Given the description of an element on the screen output the (x, y) to click on. 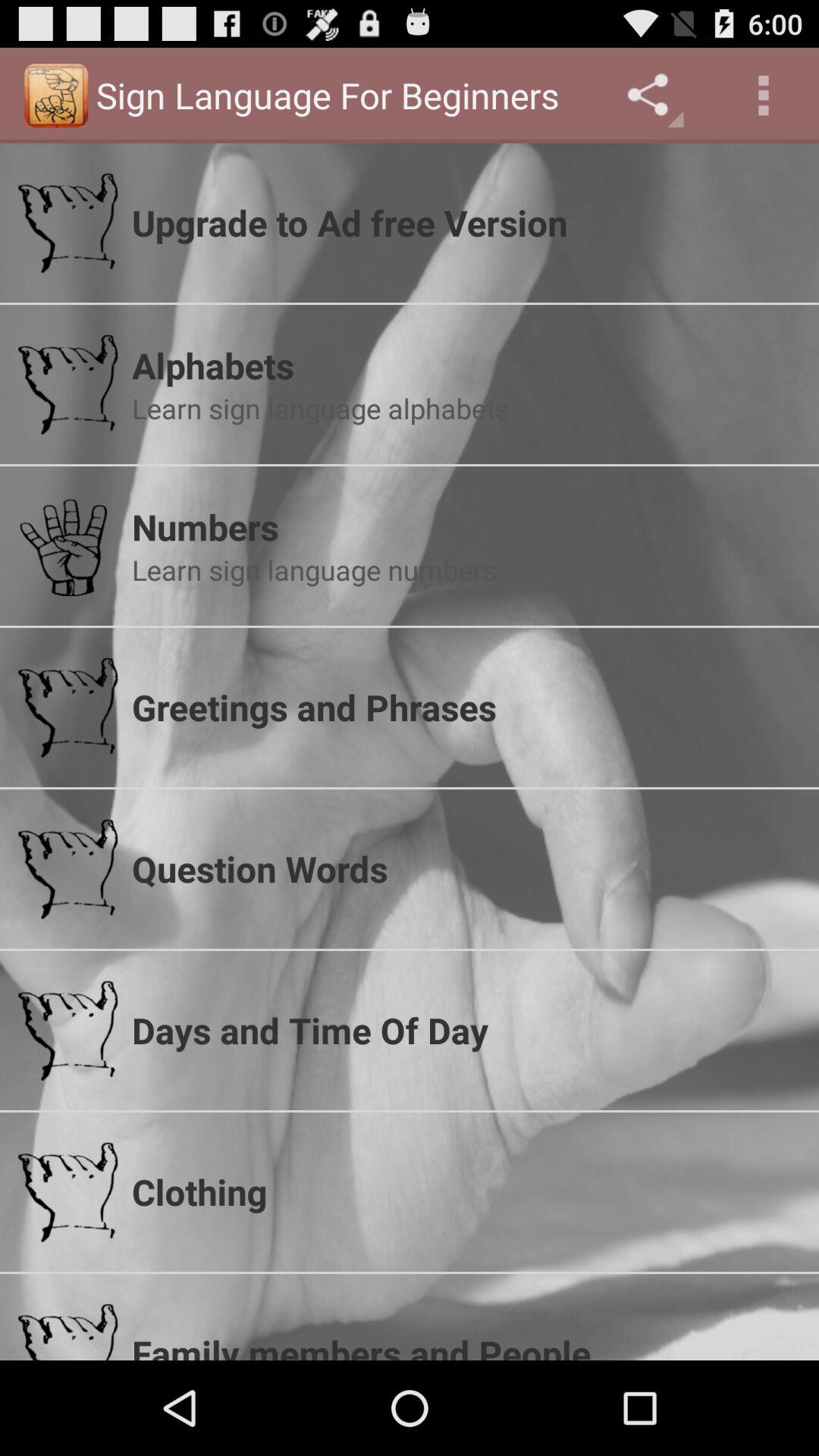
select the icon below the clothing icon (465, 1344)
